Given the description of an element on the screen output the (x, y) to click on. 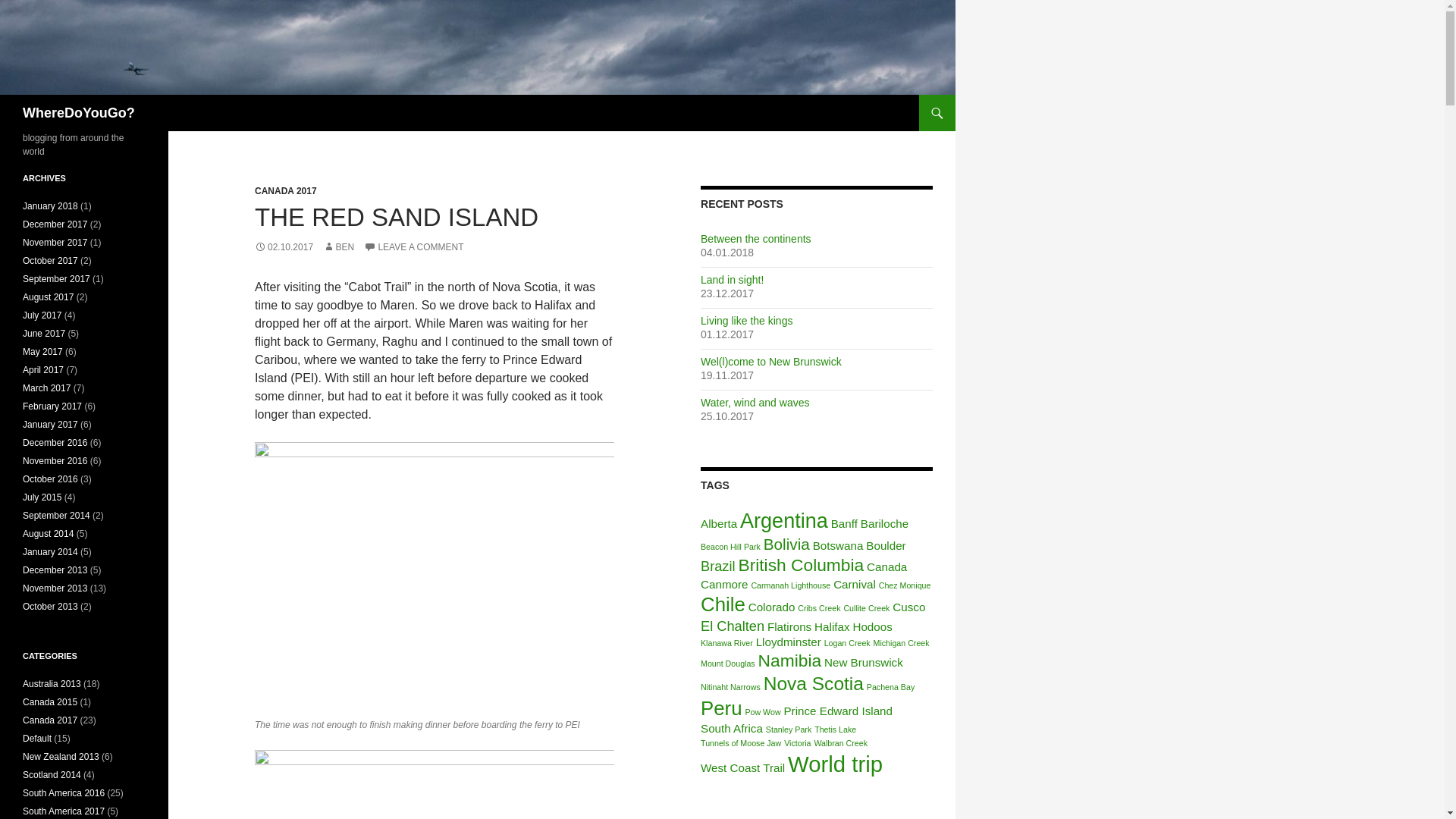
Land in sight! (731, 279)
BEN (338, 246)
02.10.2017 (283, 246)
LEAVE A COMMENT (413, 246)
WhereDoYouGo? (79, 113)
Living like the kings (746, 320)
CANADA 2017 (285, 190)
Between the continents (755, 238)
